Given the description of an element on the screen output the (x, y) to click on. 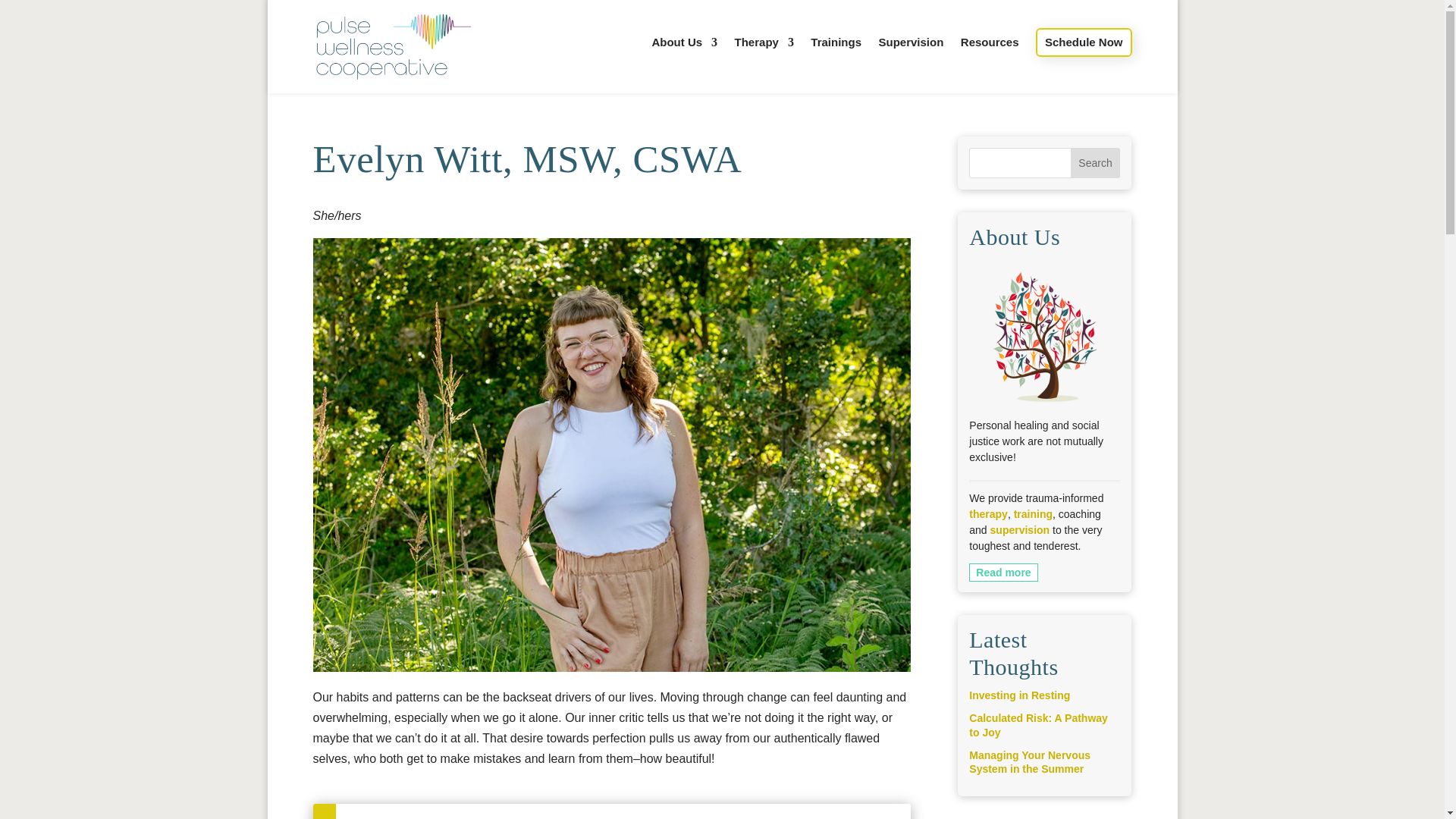
Schedule Now (1083, 41)
Therapy (764, 54)
Search (1095, 163)
Supervision (910, 54)
Trainings (835, 54)
Resources (989, 54)
About Us (683, 54)
